Given the description of an element on the screen output the (x, y) to click on. 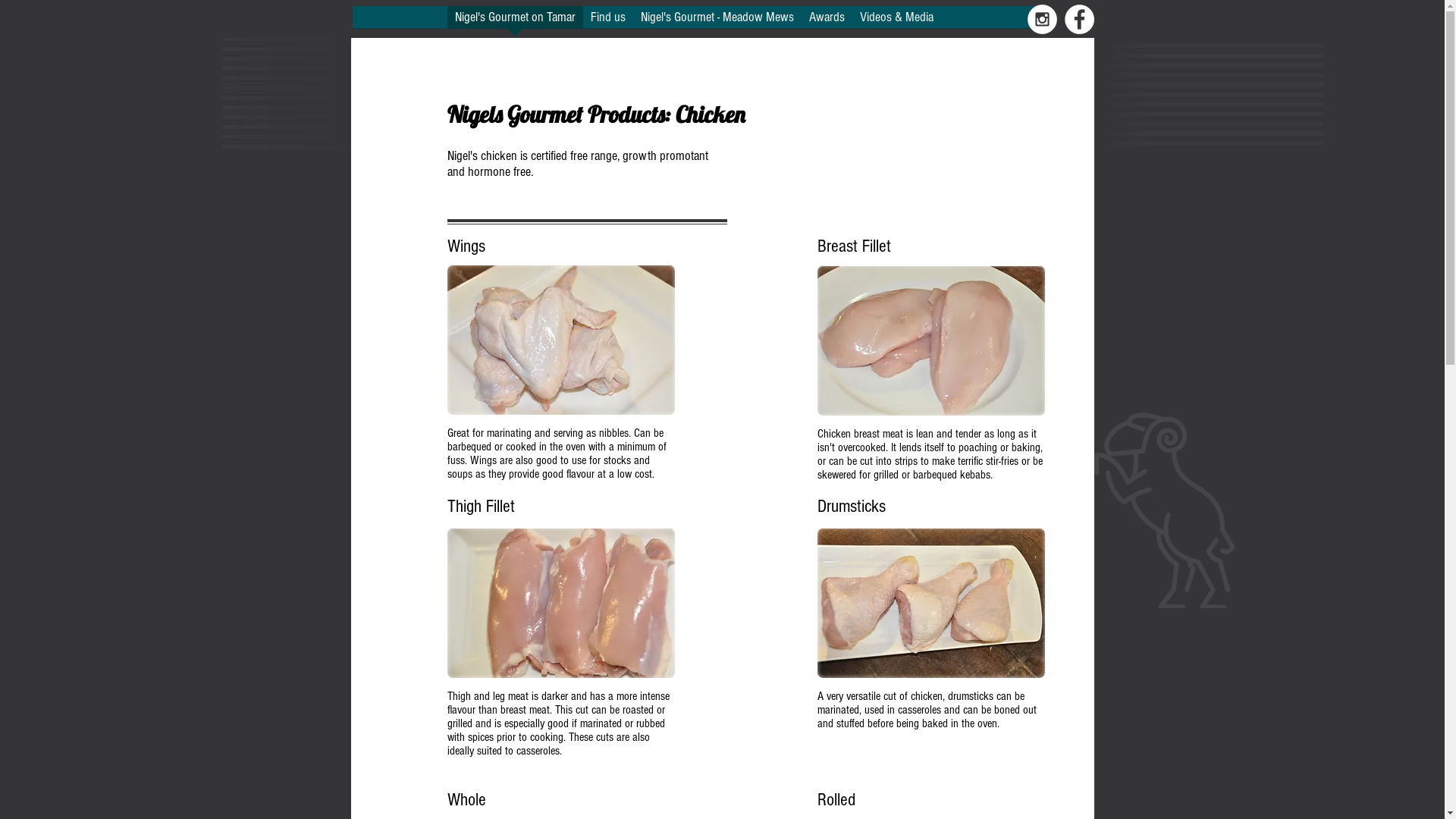
Nigel's Gourmet on Tamar Element type: text (515, 21)
chicken wings.jpg Element type: hover (560, 339)
chicken drumstick.jpg Element type: hover (930, 602)
back_left.png Element type: hover (1207, 321)
Videos & Media Element type: text (896, 21)
back_right.png Element type: hover (285, 323)
chicken thigh fillets.jpg Element type: hover (560, 602)
chicken breast fillet.jpg Element type: hover (930, 340)
Awards Element type: text (825, 21)
Nigel's Gourmet - Meadow Mews Element type: text (716, 21)
Find us Element type: text (607, 21)
